Given the description of an element on the screen output the (x, y) to click on. 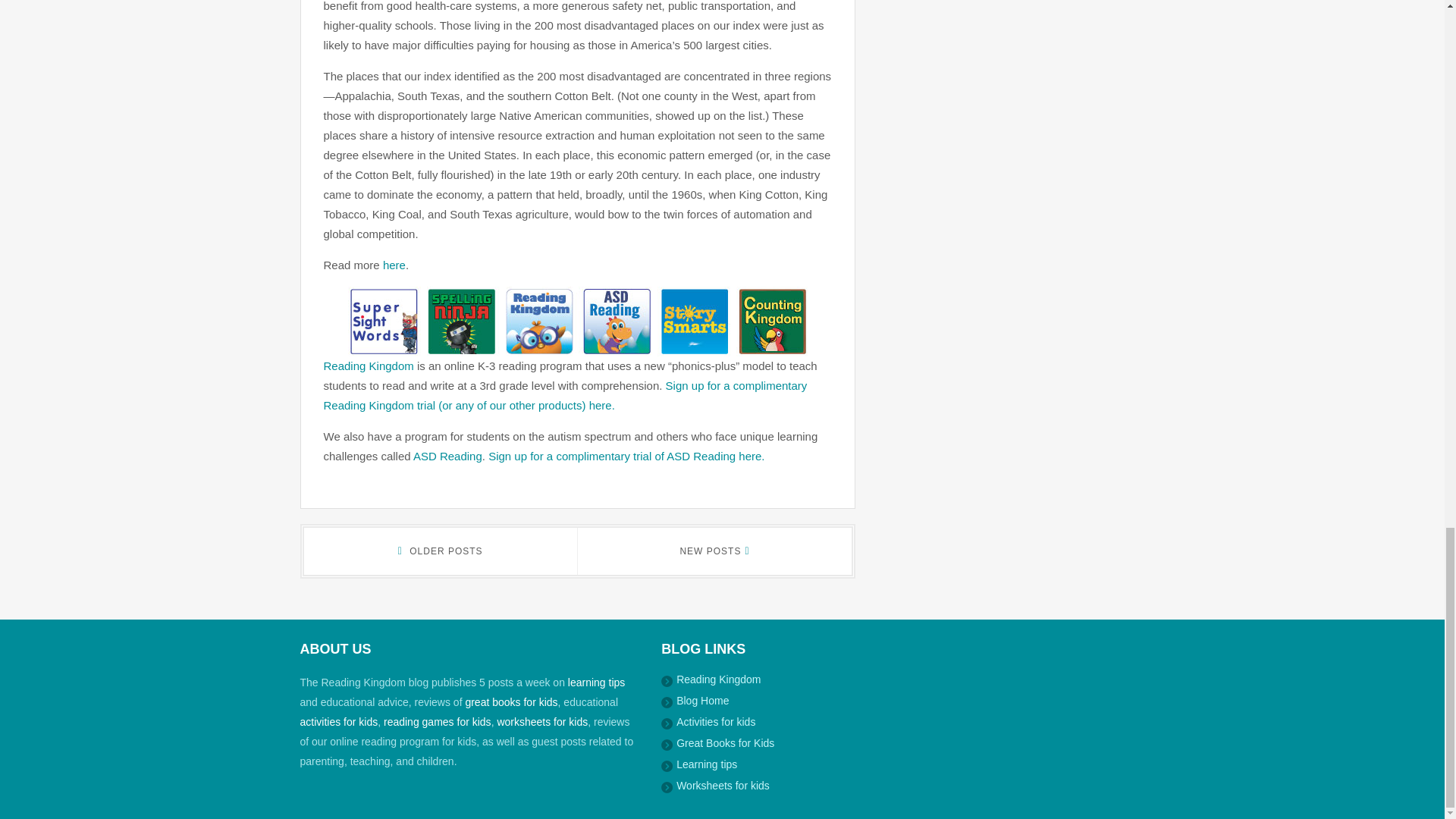
here (394, 264)
reading games for kids (438, 721)
Blog Home (703, 700)
Reading Kingdom (368, 365)
Sign up for a complimentary trial of ASD Reading here. (625, 455)
NEW POSTS (714, 550)
learning tips (596, 682)
activities for kids (338, 721)
OLDER POSTS (439, 550)
worksheets for kids (542, 721)
